Given the description of an element on the screen output the (x, y) to click on. 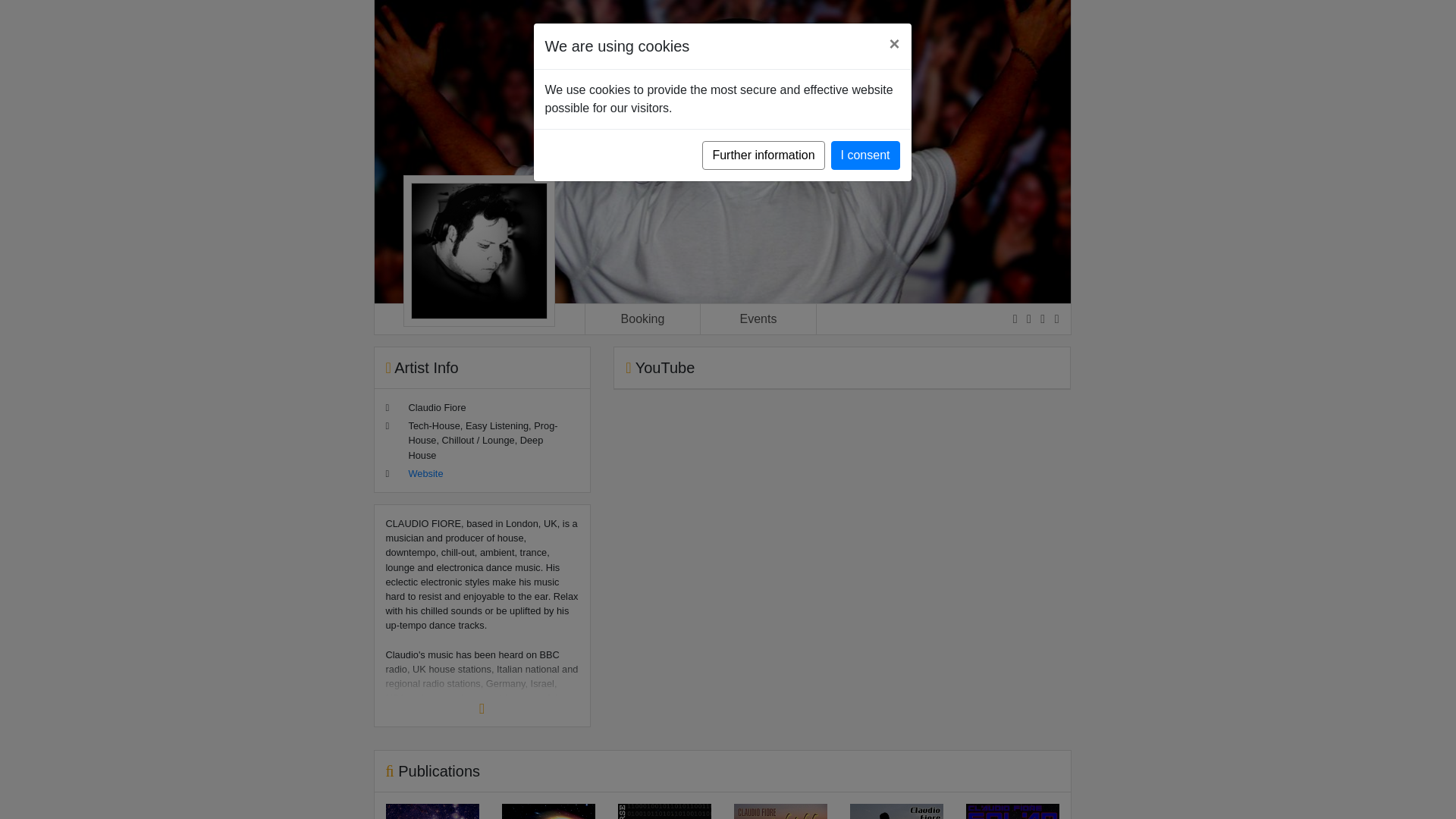
Events (758, 318)
Website (424, 473)
Further information (762, 154)
I consent (865, 154)
Booking (643, 318)
